Given the description of an element on the screen output the (x, y) to click on. 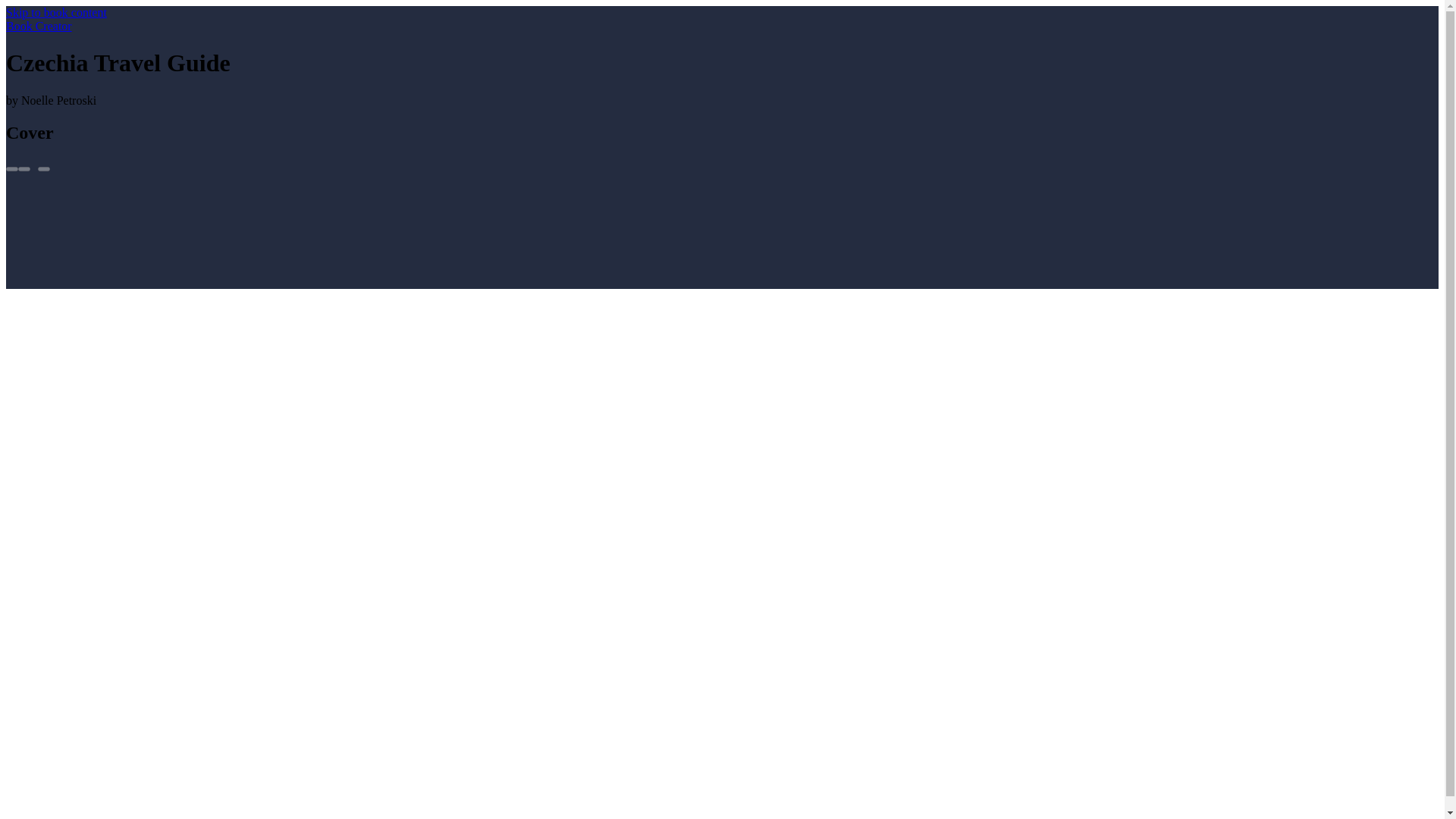
Menu (43, 169)
Skip to book content (55, 11)
Go to Book Creator website (38, 25)
Book Creator (38, 25)
Skip to book content (55, 11)
Settings (23, 169)
Pages (11, 169)
